Given the description of an element on the screen output the (x, y) to click on. 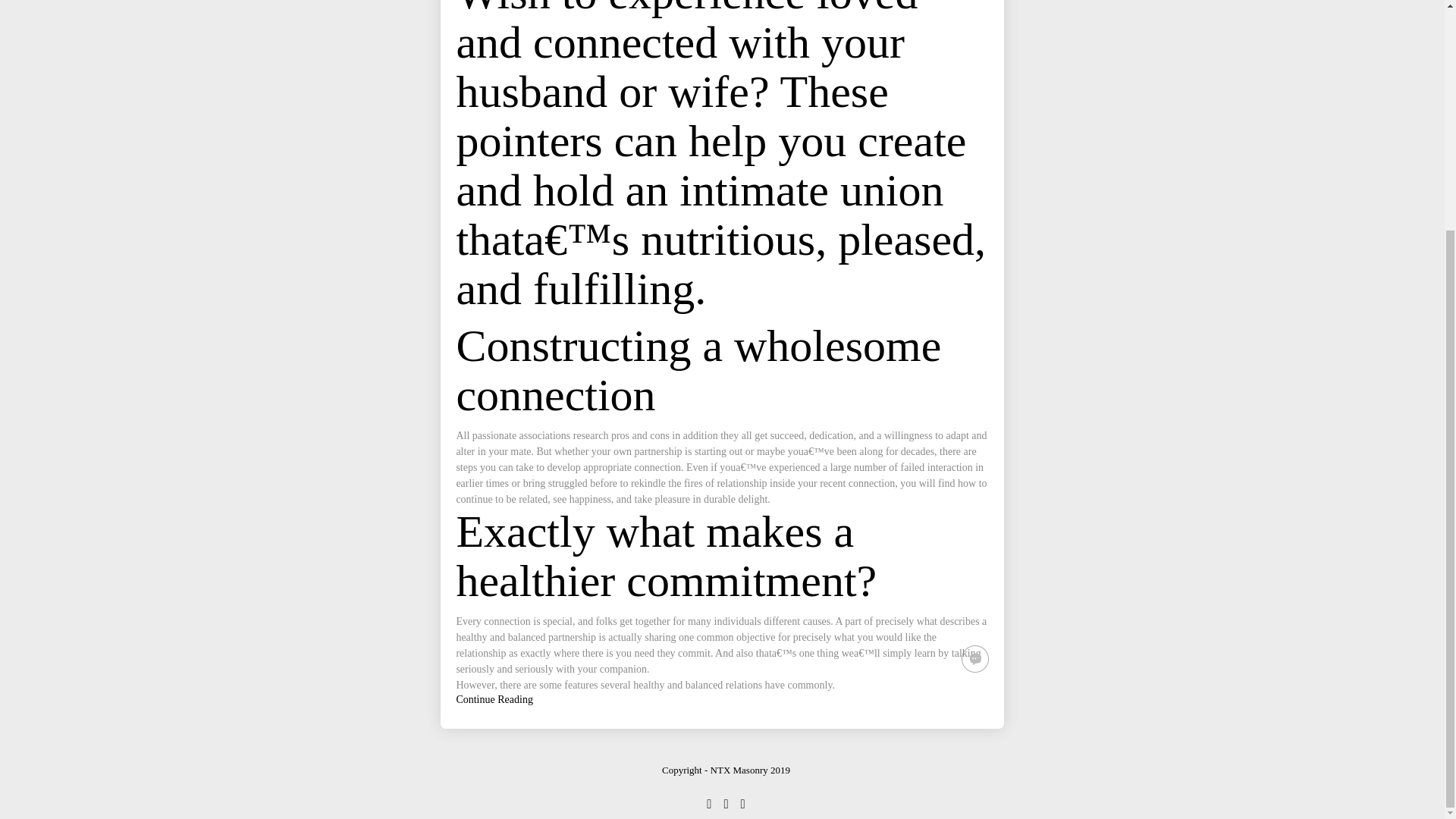
Continue Reading (493, 699)
